Given the description of an element on the screen output the (x, y) to click on. 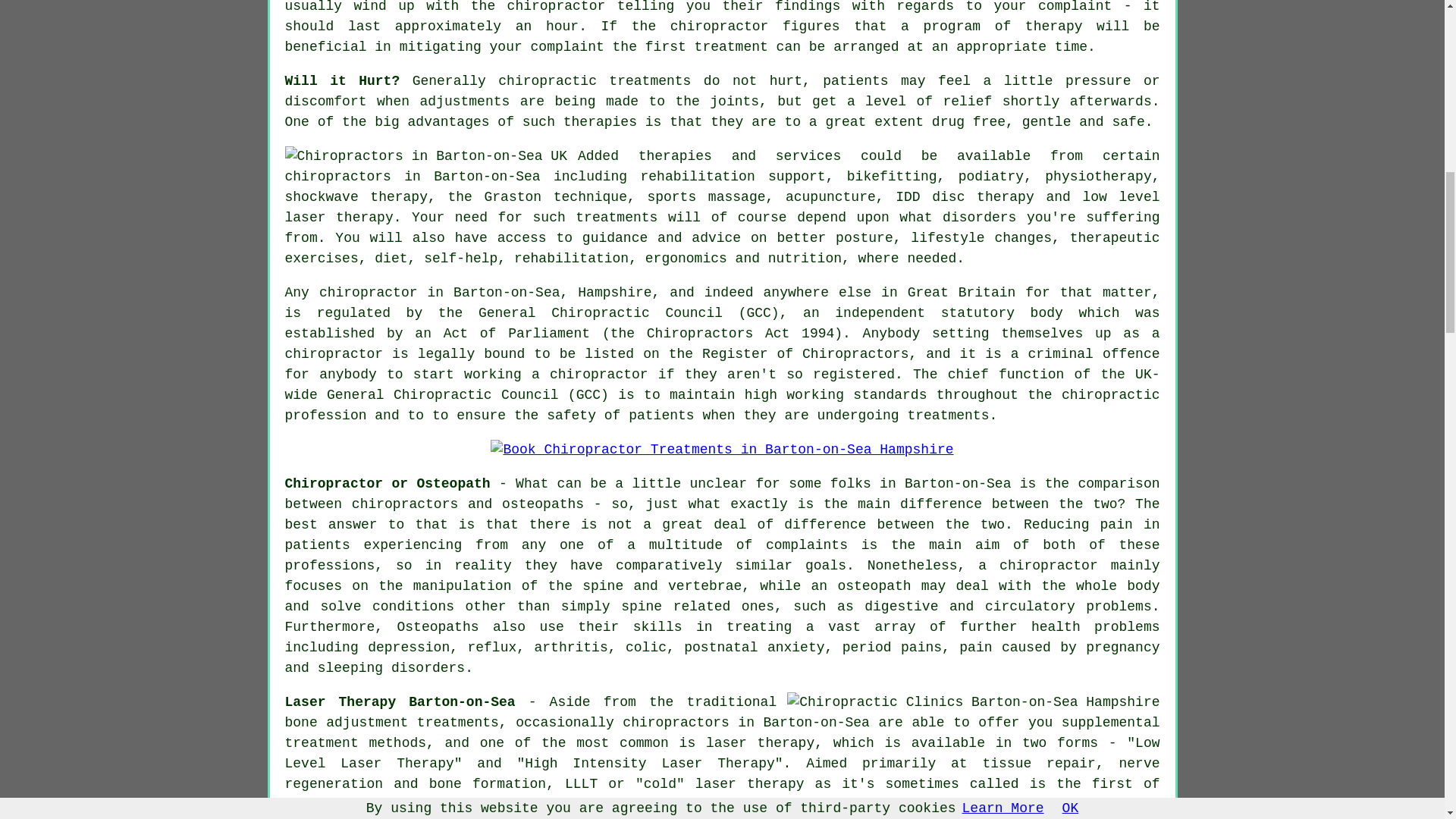
the joints (716, 101)
chiropractic treatments (593, 80)
chiropractor (334, 353)
chiropractor in Barton-on-Sea, Hampshire (485, 292)
Register of Chiropractors (804, 353)
Chiropractors in Barton-on-Sea UK (426, 156)
regulated (353, 313)
